Given the description of an element on the screen output the (x, y) to click on. 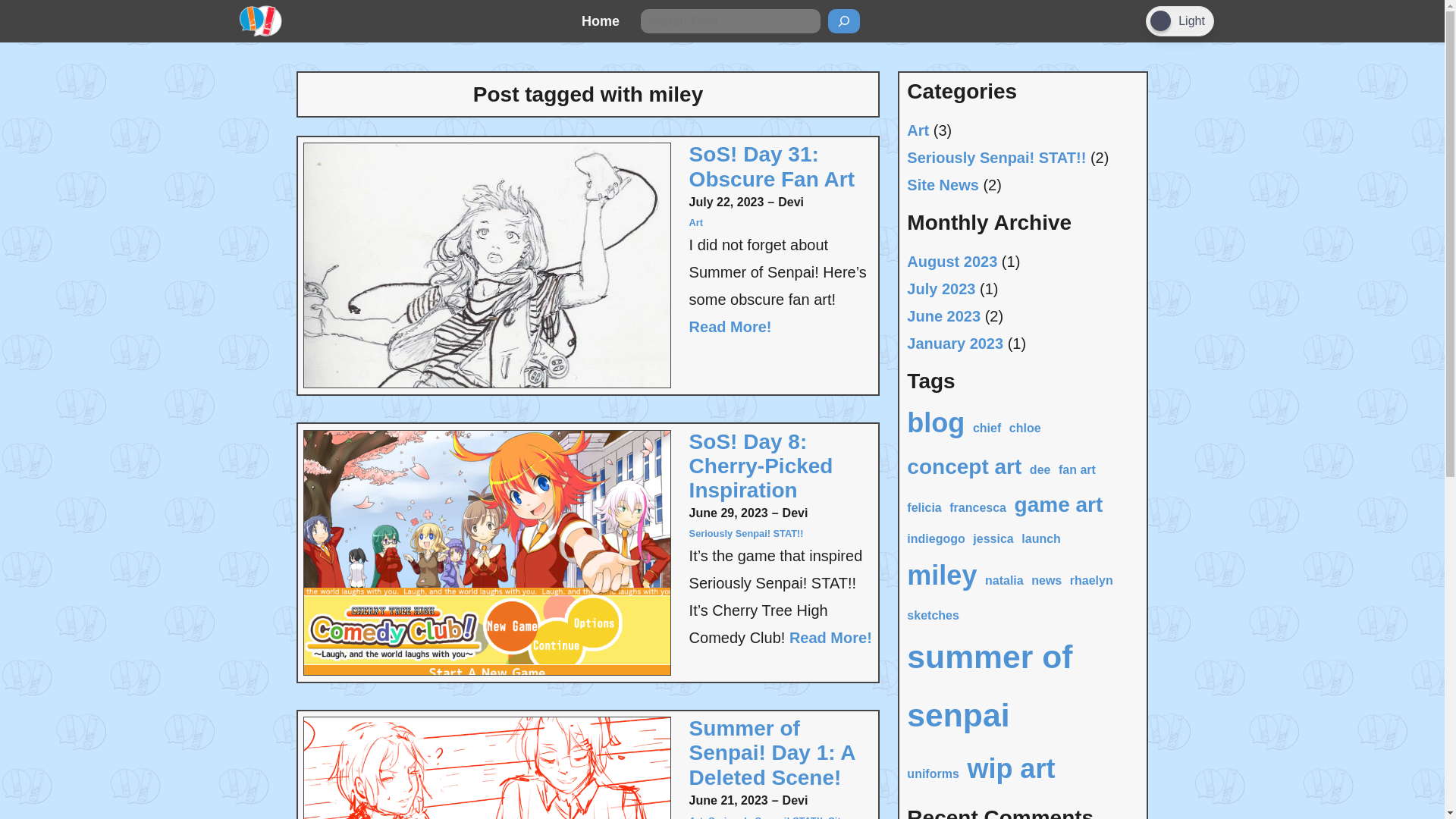
SoS! Day 31: Obscure Fan Art (780, 166)
dee (1040, 470)
chief (986, 428)
Seriously Senpai! STAT!! (764, 816)
francesca (977, 508)
Site News (766, 816)
indiegogo (935, 539)
Seriously Senpai! STAT!! (996, 157)
Art (695, 222)
Site News (942, 184)
natalia (1004, 581)
chloe (1025, 428)
June 2023 (943, 315)
Read More! (830, 637)
SoS! Day 8: Cherry-Picked Inspiration (780, 466)
